Given the description of an element on the screen output the (x, y) to click on. 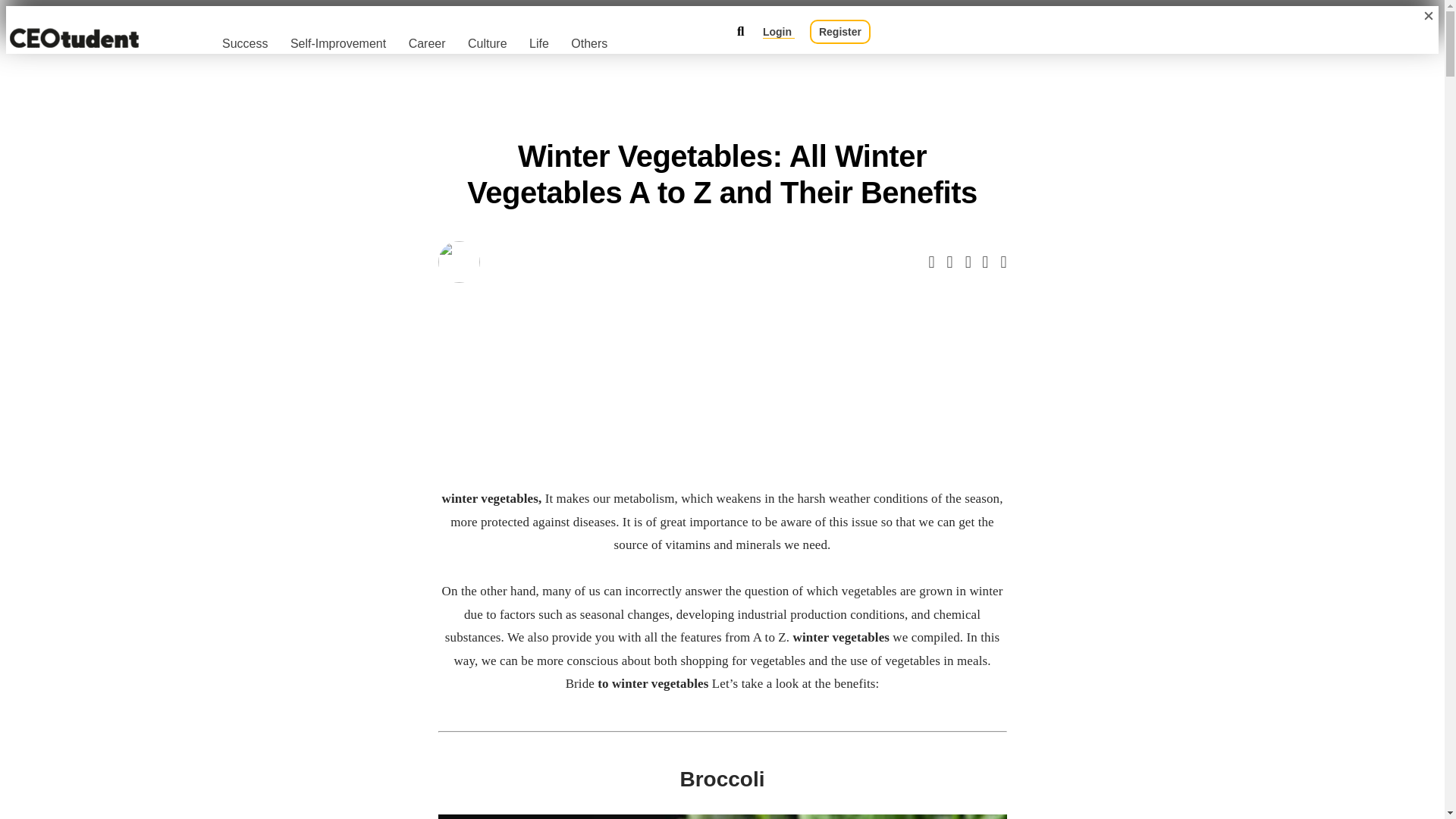
Self-Improvement (337, 42)
Others (588, 42)
CEOtudent Logo (73, 37)
Login (778, 31)
Career (427, 42)
Success (244, 42)
Culture (486, 42)
Life (538, 42)
